Given the description of an element on the screen output the (x, y) to click on. 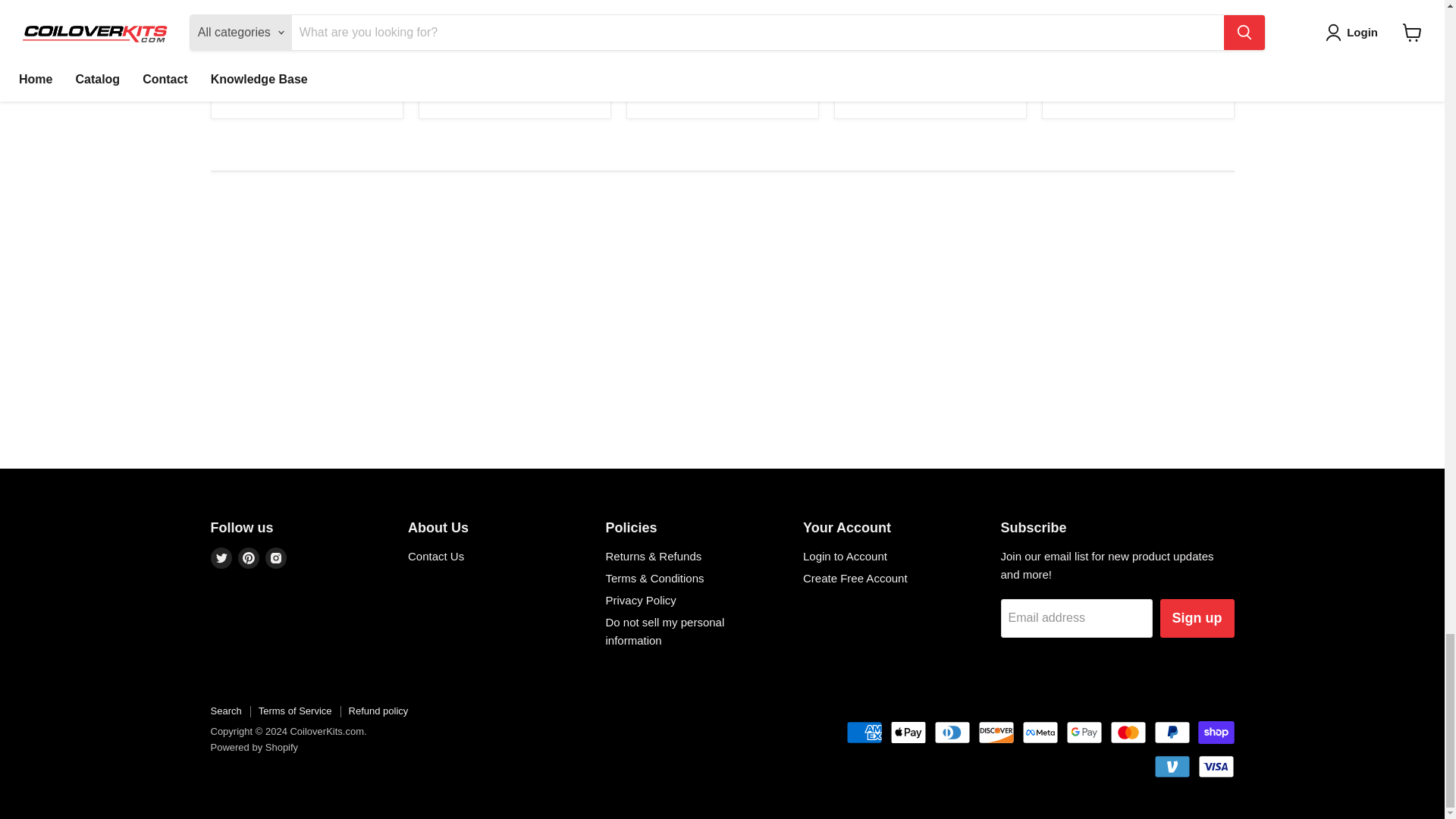
American Express (863, 732)
Rev9 (650, 84)
Discover (996, 732)
Rev9 (234, 84)
Pinterest (248, 557)
Rev9 (857, 84)
Apple Pay (907, 732)
Rev9 (441, 69)
Rev9 (1065, 69)
Meta Pay (1040, 732)
Twitter (221, 557)
Diners Club (952, 732)
Google Pay (1083, 732)
Instagram (275, 557)
